Given the description of an element on the screen output the (x, y) to click on. 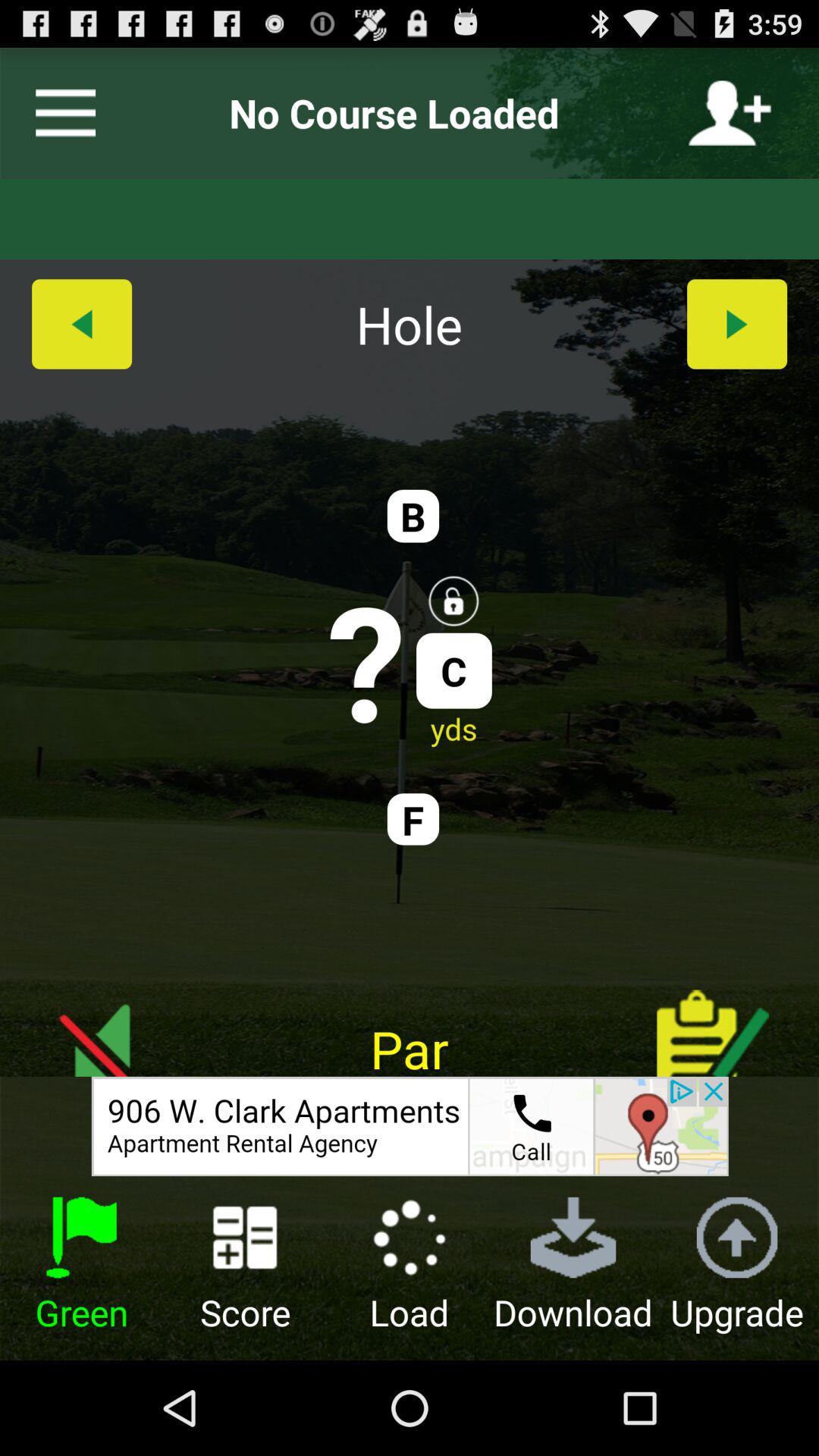
go to search (409, 1126)
